Given the description of an element on the screen output the (x, y) to click on. 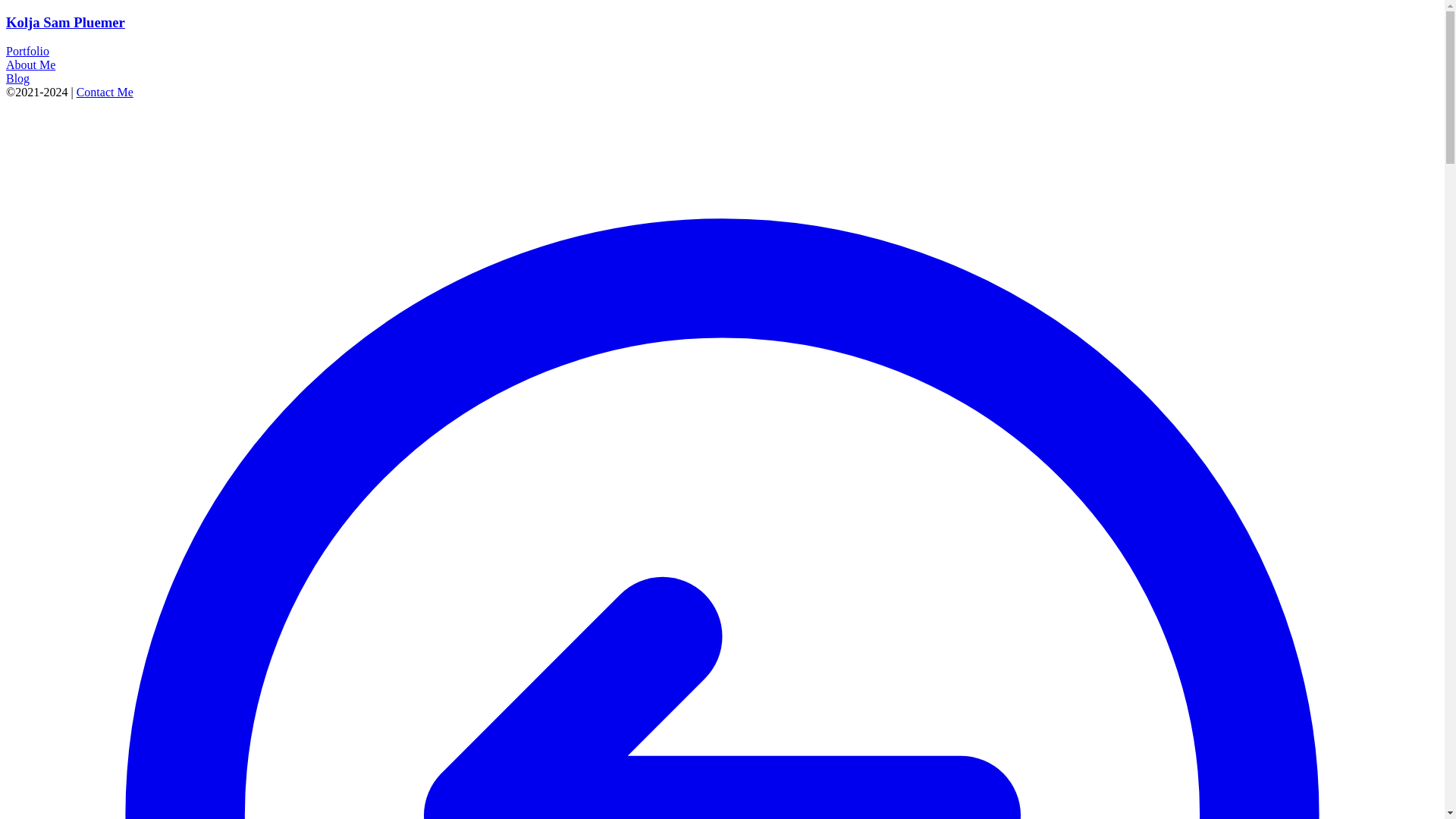
About Me (30, 64)
Contact Me (105, 91)
Blog (17, 78)
Kolja Sam Pluemer (65, 22)
Portfolio (27, 51)
